Given the description of an element on the screen output the (x, y) to click on. 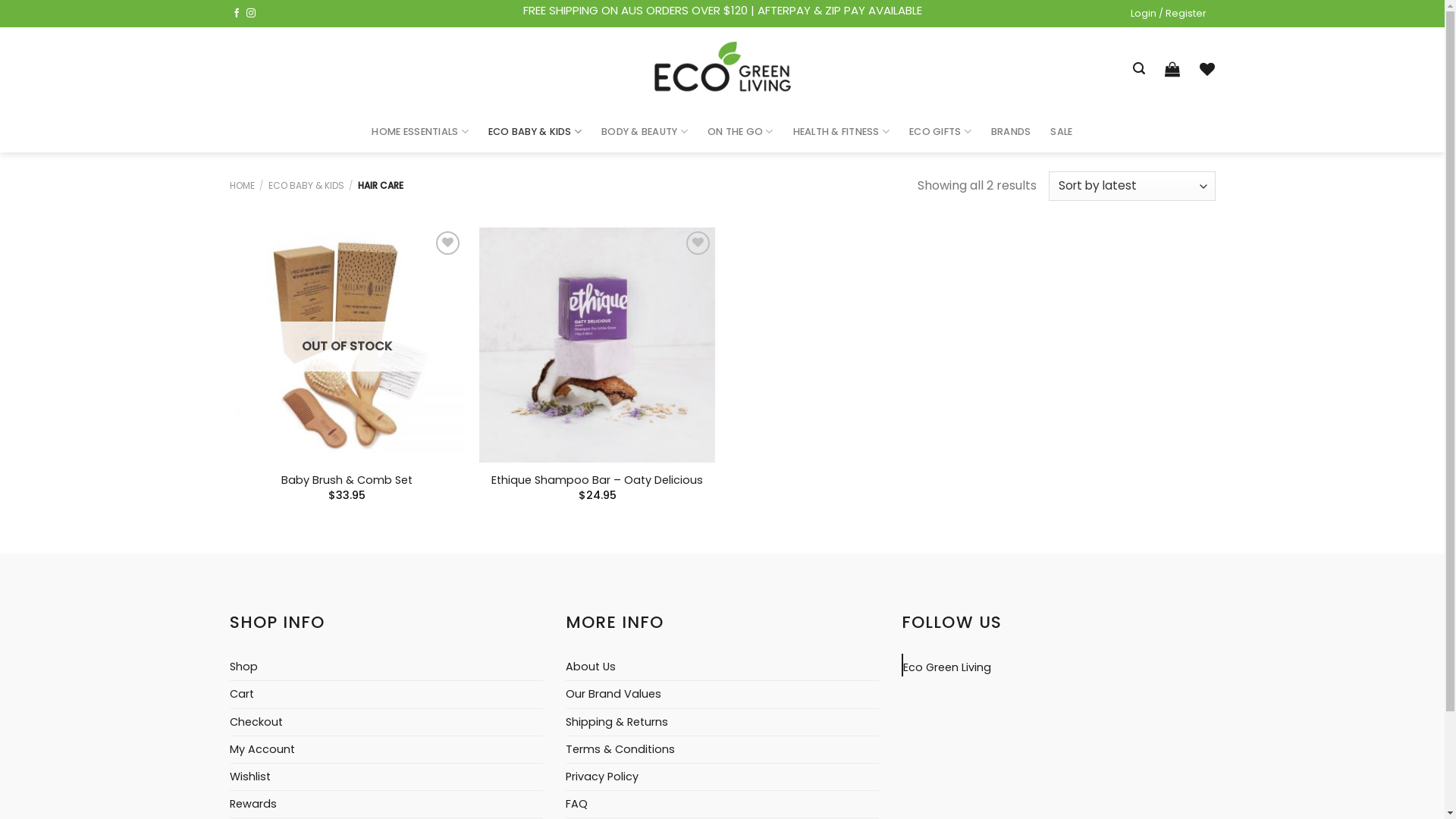
ON THE GO Element type: text (740, 131)
ECO GIFTS Element type: text (940, 131)
HOME ESSENTIALS Element type: text (419, 131)
My Account Element type: text (261, 749)
Checkout Element type: text (255, 721)
HOME Element type: text (241, 184)
About Us Element type: text (590, 666)
Cart Element type: hover (1171, 68)
Privacy Policy Element type: text (601, 776)
FAQ Element type: text (576, 803)
ECO BABY & KIDS Element type: text (306, 184)
Wishlist Element type: text (249, 776)
Terms & Conditions Element type: text (619, 749)
Baby Brush & Comb Set Element type: text (346, 480)
BODY & BEAUTY Element type: text (644, 131)
HEALTH & FITNESS Element type: text (841, 131)
Cart Element type: text (241, 693)
Shop Element type: text (243, 666)
BRANDS Element type: text (1011, 131)
Login / Register Element type: text (1167, 13)
Our Brand Values Element type: text (613, 693)
SALE Element type: text (1061, 131)
Rewards Element type: text (252, 803)
Eco Green Living Element type: text (947, 666)
Shipping & Returns Element type: text (616, 721)
ECO BABY & KIDS Element type: text (534, 131)
